Given the description of an element on the screen output the (x, y) to click on. 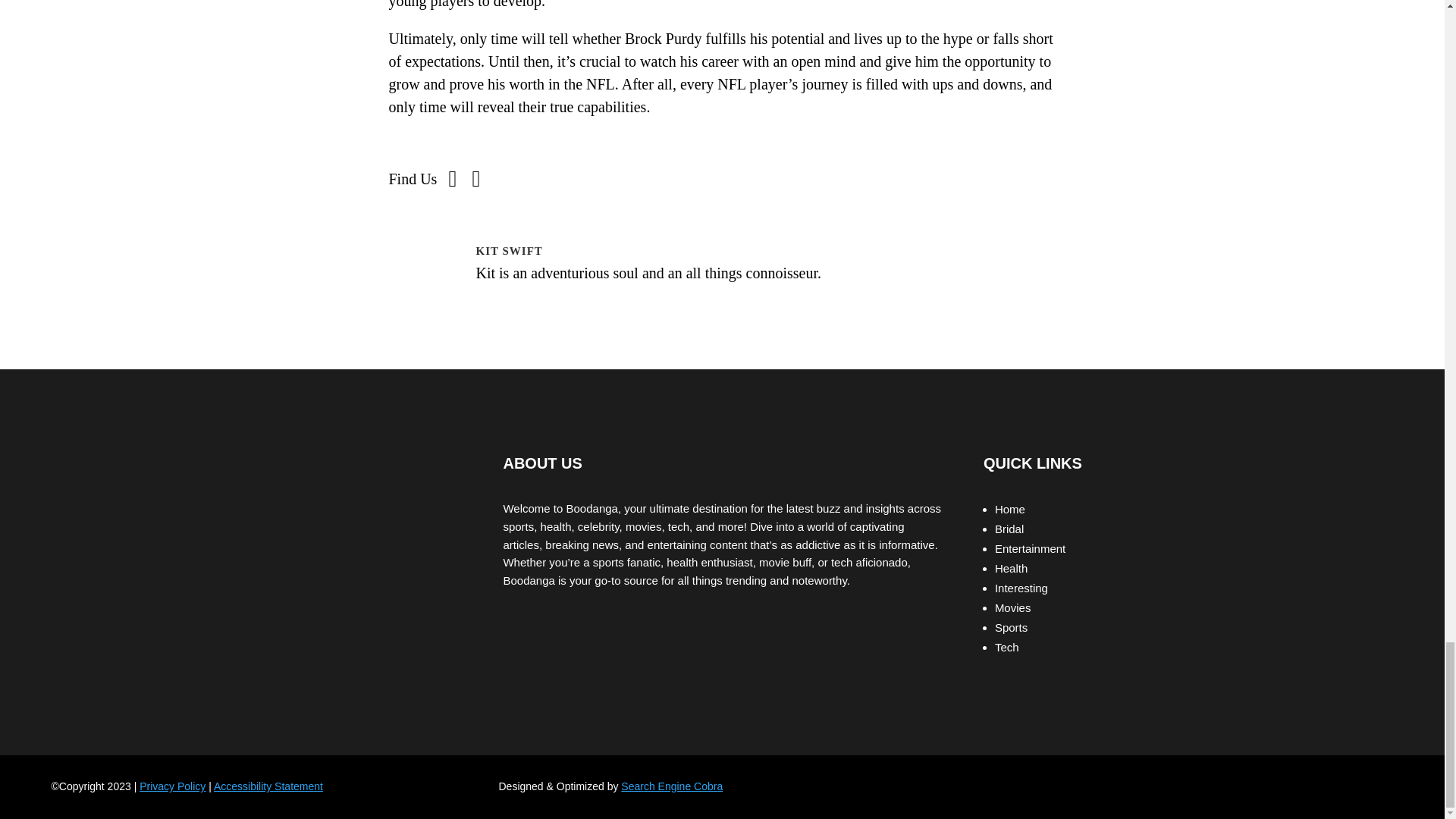
Is brock purdy overated (475, 190)
Privacy Policy (172, 786)
Search Engine Cobra (671, 786)
Is brock purdy overated (452, 190)
Accessibility Statement (268, 786)
